Given the description of an element on the screen output the (x, y) to click on. 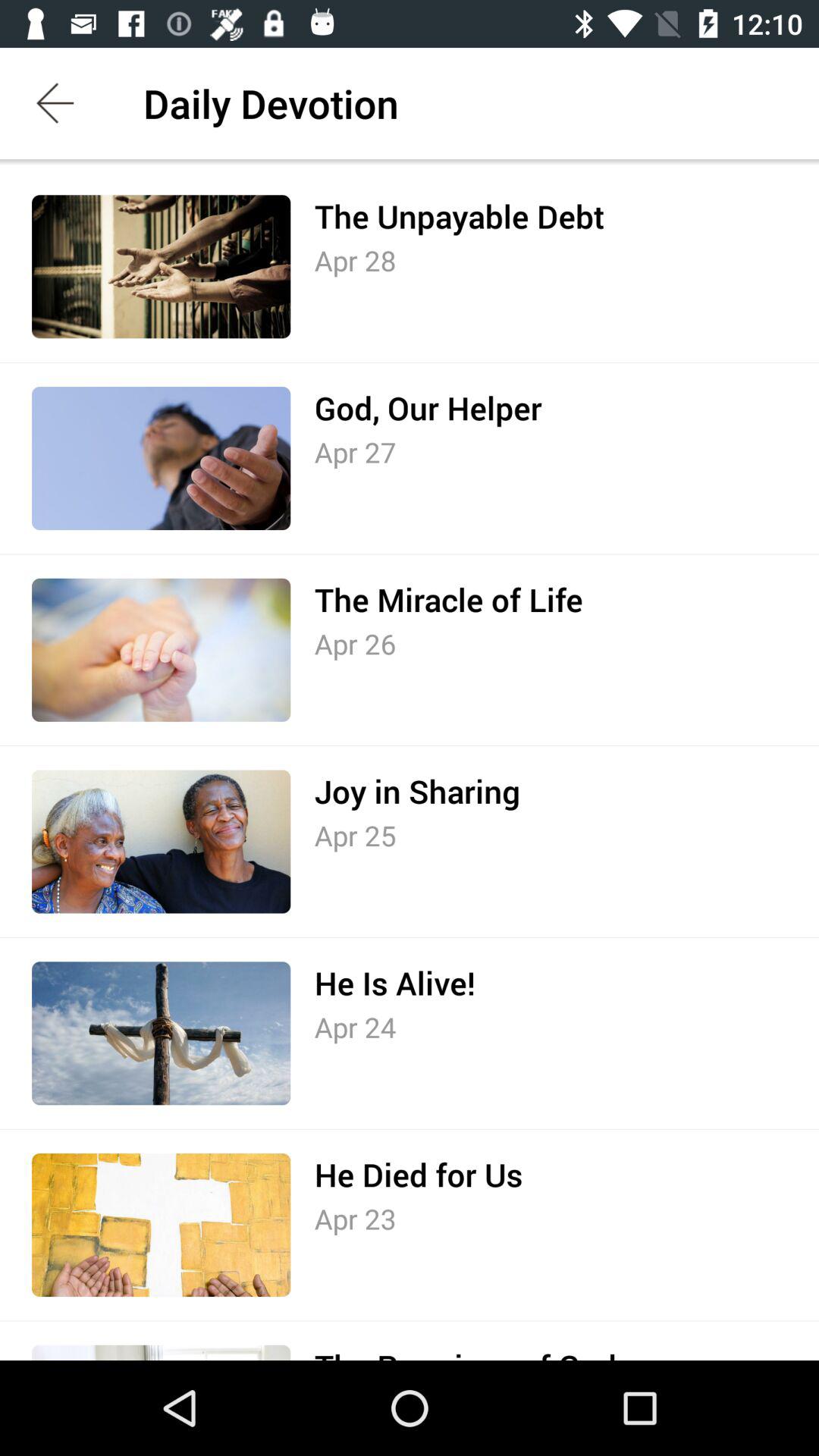
click on 5th image (160, 1032)
click on fourth image (160, 842)
